Given the description of an element on the screen output the (x, y) to click on. 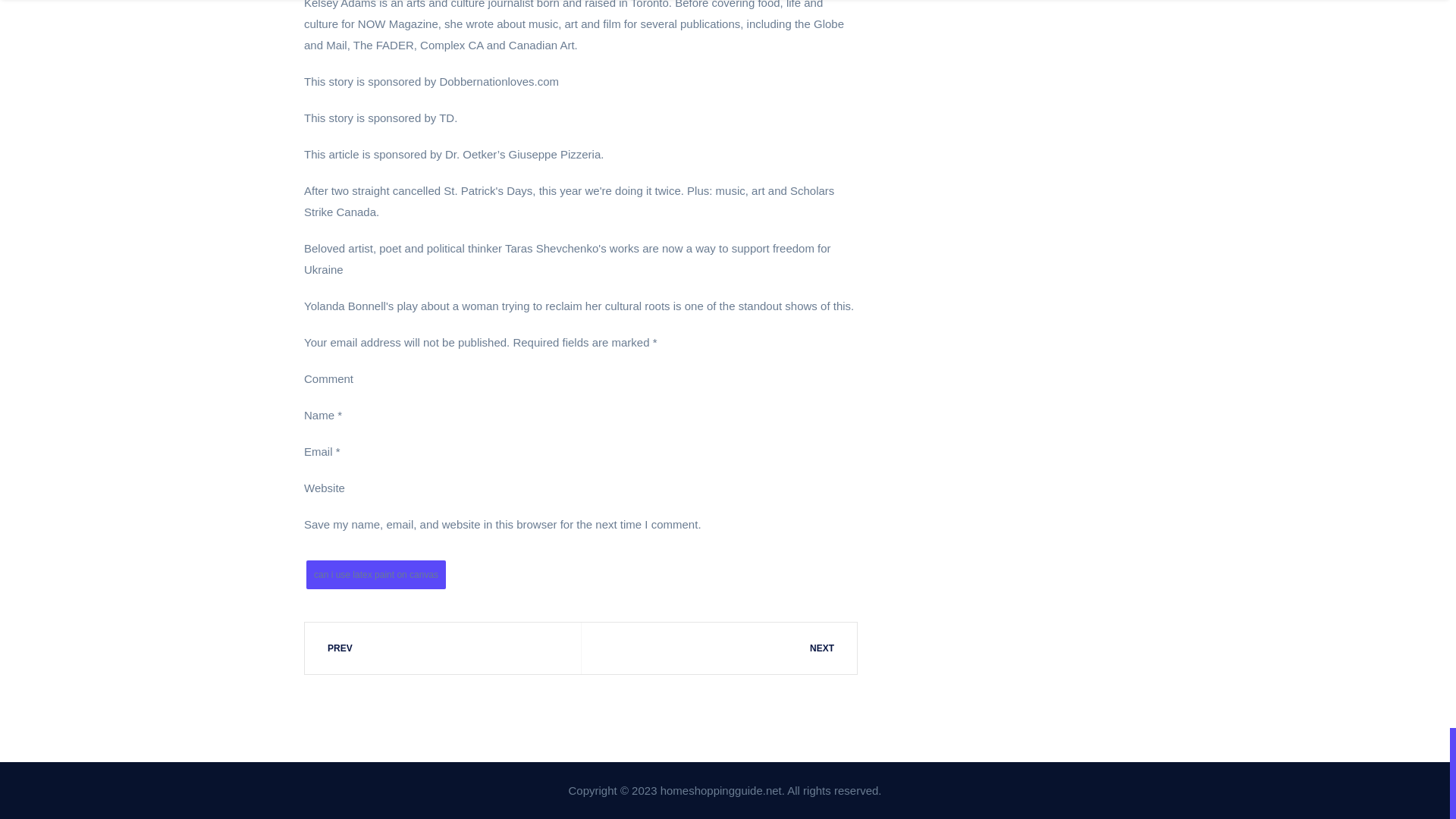
PREV (443, 648)
NEXT (718, 648)
can i use latex paint on canvas (375, 574)
